Given the description of an element on the screen output the (x, y) to click on. 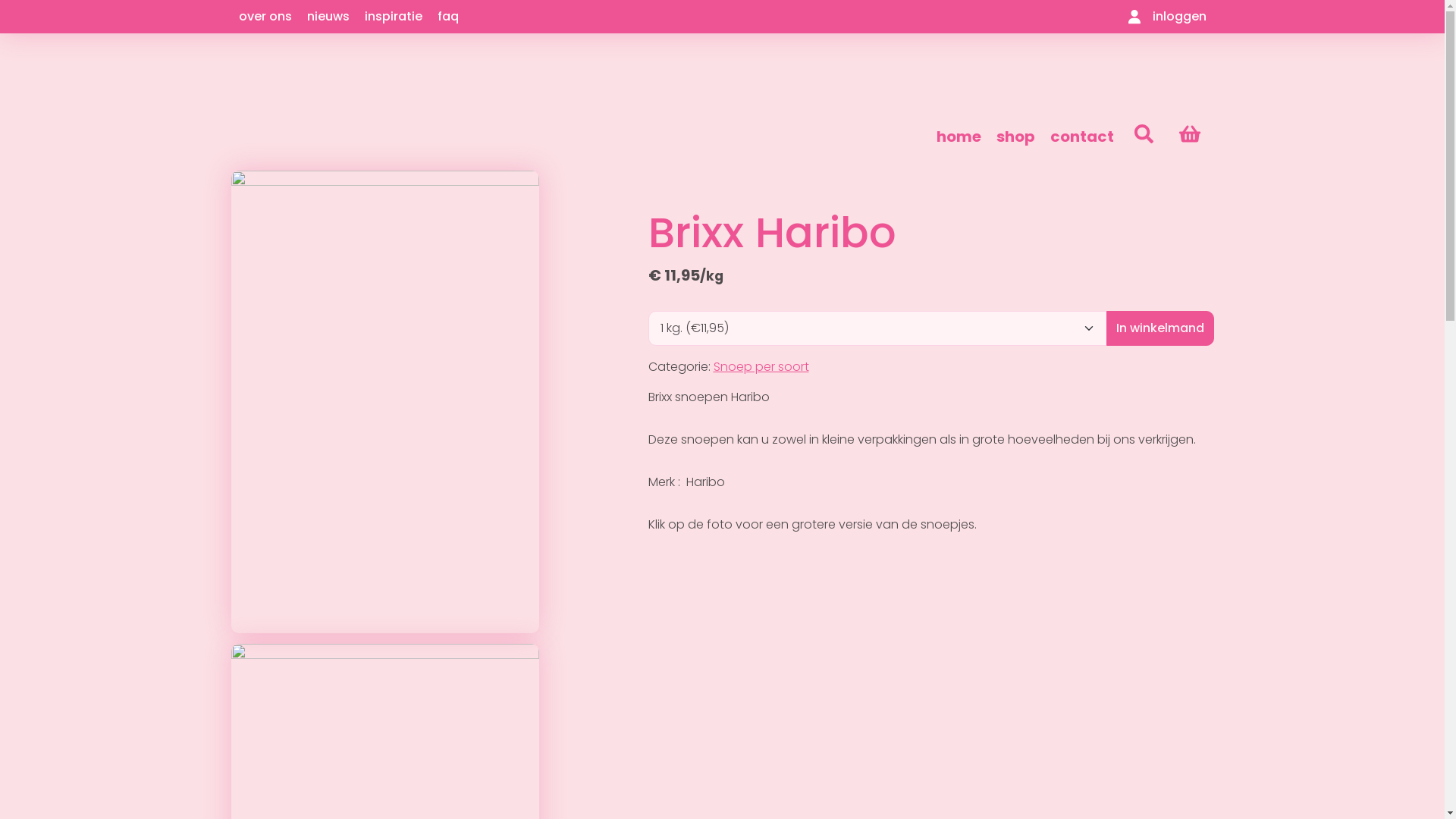
inloggen Element type: text (1167, 16)
home Element type: text (958, 135)
contact Element type: text (1081, 135)
In winkelmand Element type: text (1159, 327)
faq Element type: text (447, 16)
shop Element type: text (1015, 135)
Snoep per soort Element type: text (760, 366)
over ons Element type: text (264, 16)
webdesign tom broucke Element type: text (1146, 792)
nieuws Element type: text (327, 16)
IMG_0281 Element type: hover (384, 401)
inspiratie Element type: text (392, 16)
